Given the description of an element on the screen output the (x, y) to click on. 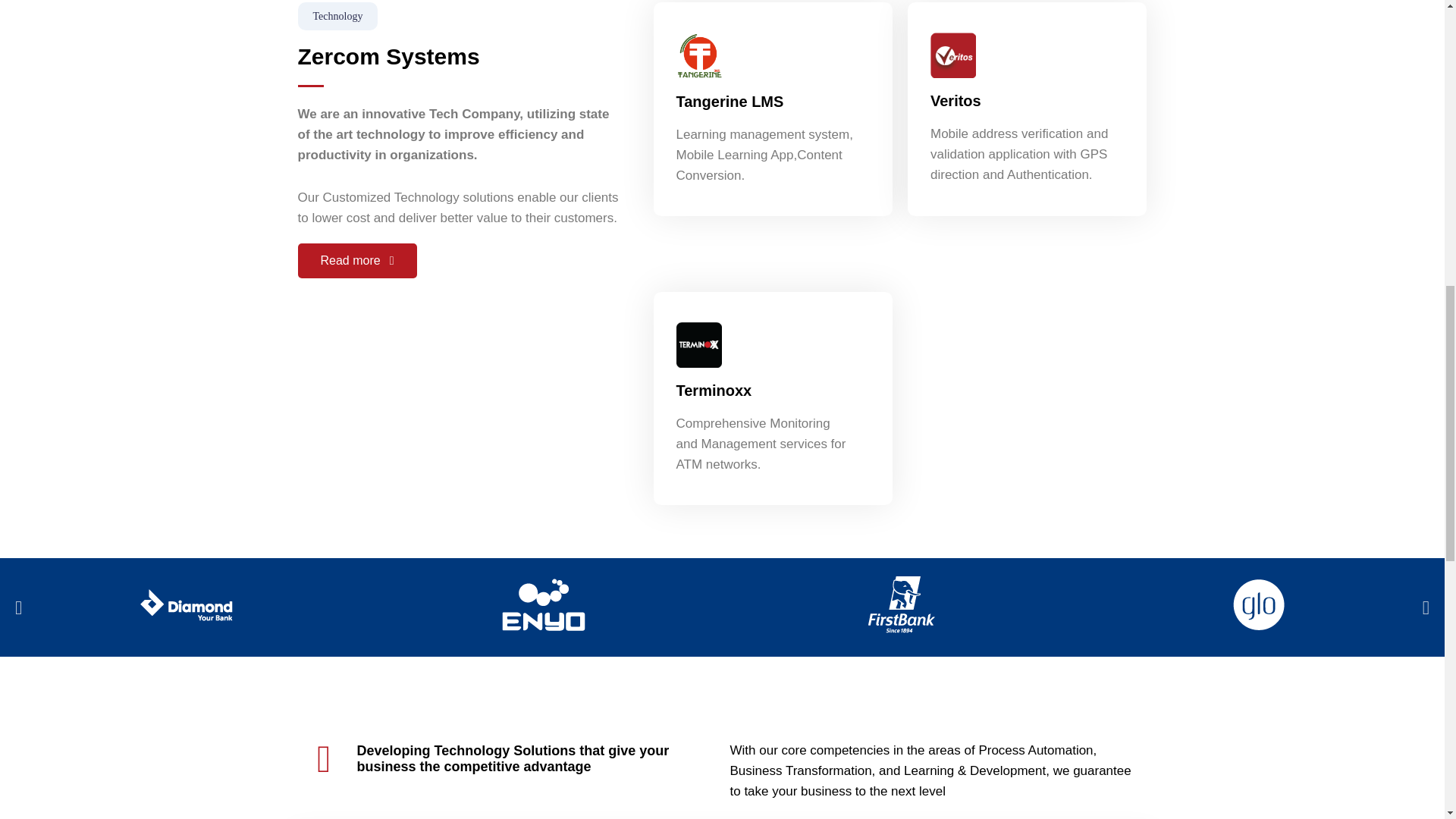
2 (952, 54)
1 (699, 344)
